Given the description of an element on the screen output the (x, y) to click on. 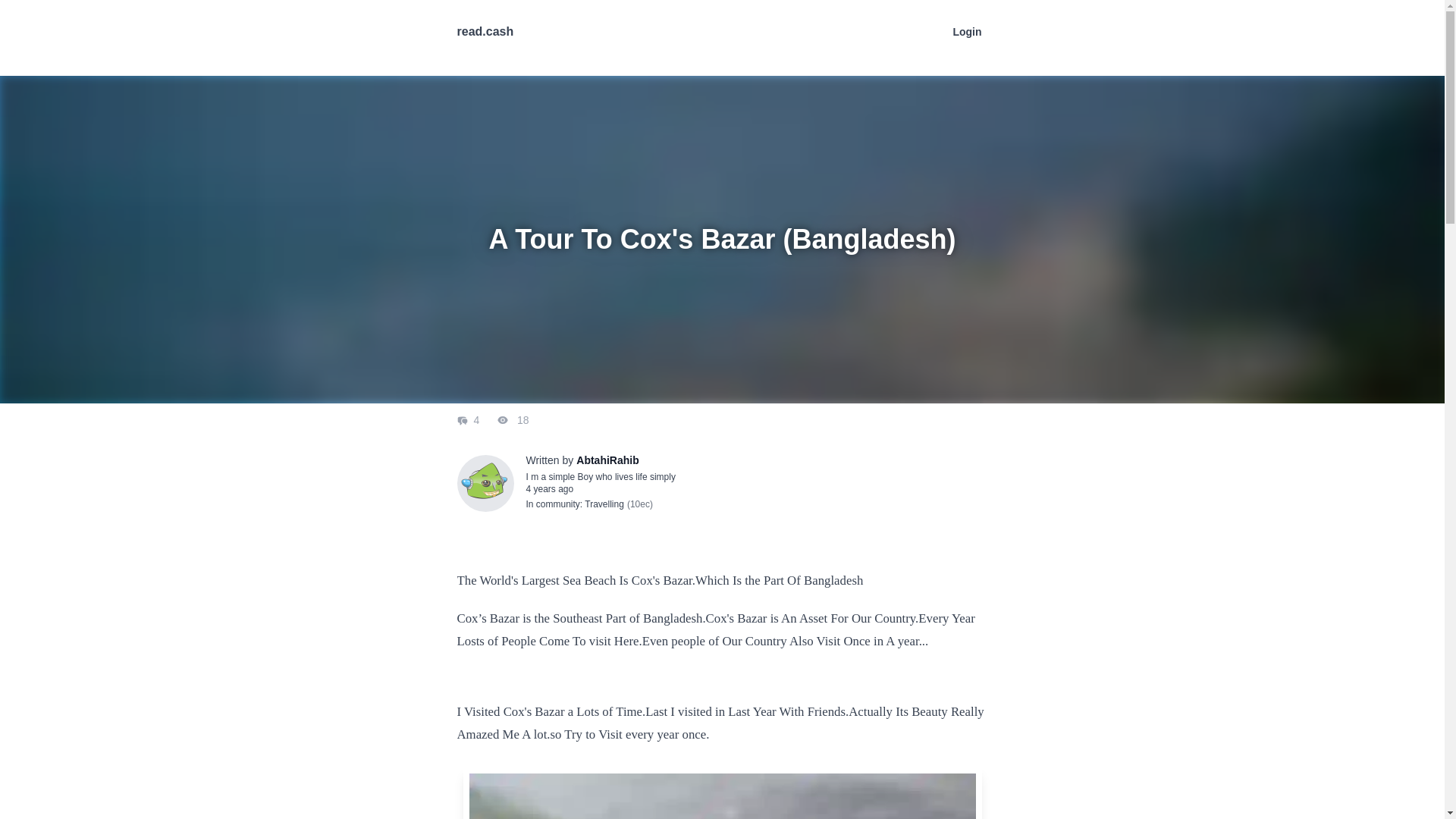
Number of people who saw the article or submission (504, 419)
4 (469, 419)
read.cash (485, 31)
2020-06-25 19:32:42 (549, 489)
community (557, 503)
Login (966, 31)
AbtahiRahib (607, 459)
